Given the description of an element on the screen output the (x, y) to click on. 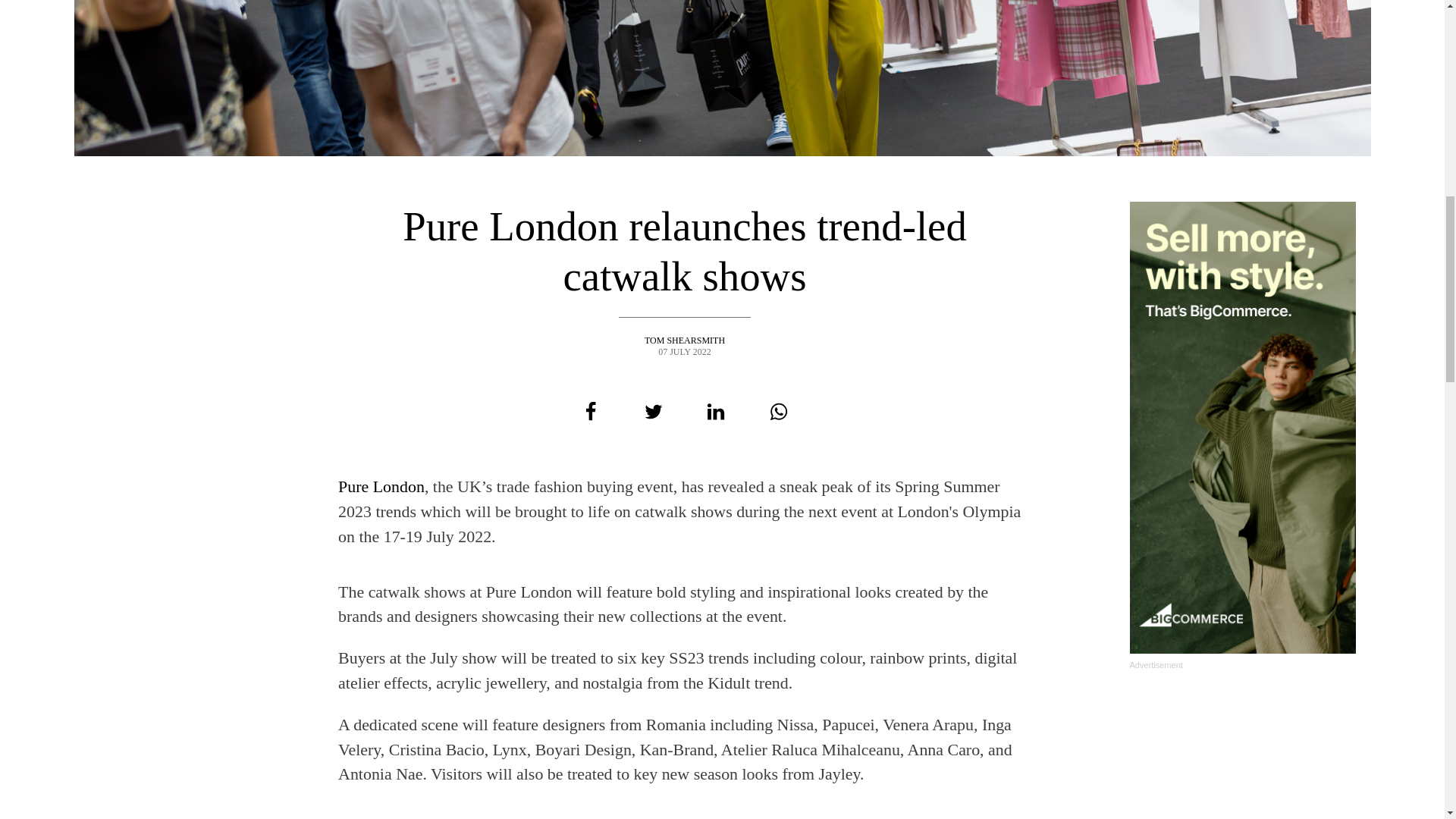
Pure London (381, 486)
